Given the description of an element on the screen output the (x, y) to click on. 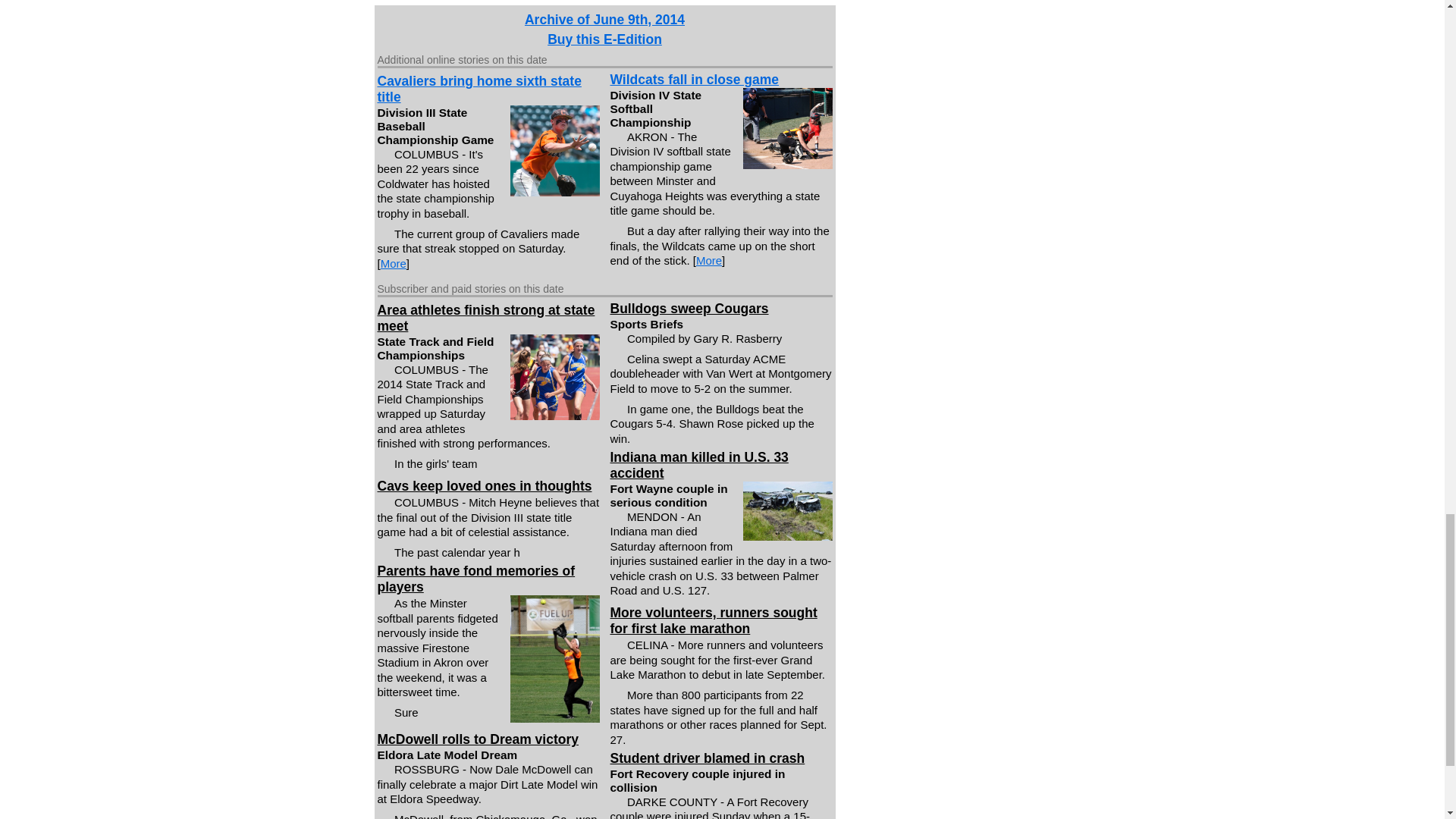
Buy this E-Edition (604, 38)
More (708, 259)
Area athletes finish strong at state meet (486, 317)
Cavaliers bring home sixth state title (478, 88)
More (393, 263)
Archive of June 9th, 2014 (604, 19)
Cavs keep loved ones in thoughts (484, 485)
Wildcats fall in close game (694, 79)
